Given the description of an element on the screen output the (x, y) to click on. 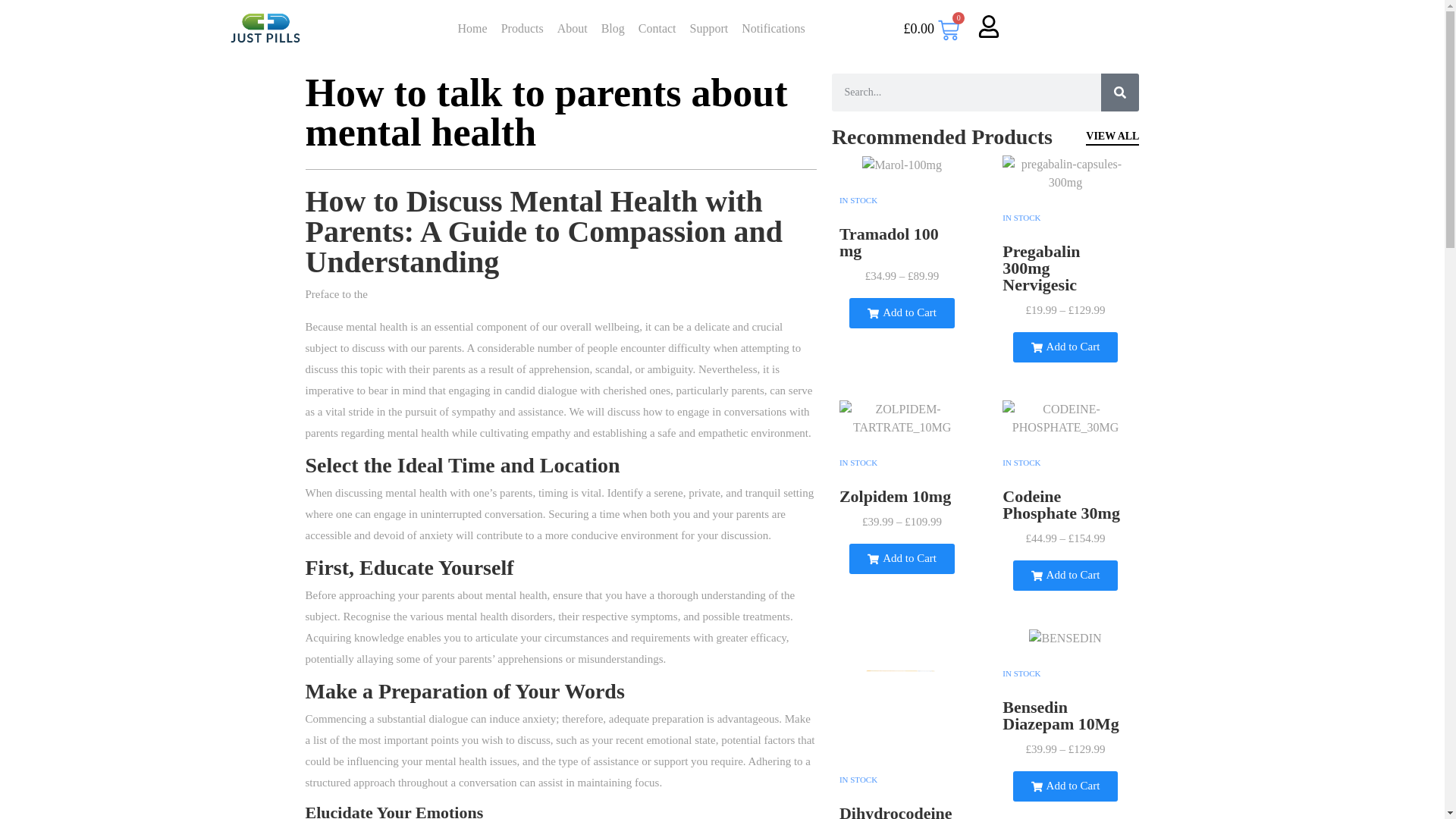
Add to Cart (901, 313)
About (572, 28)
BENSEDIN (1064, 638)
Add to Cart (1065, 347)
VIEW ALL (1112, 138)
Contact (656, 28)
Notifications (773, 28)
Support (708, 28)
Products (522, 28)
Blog (612, 28)
